Given the description of an element on the screen output the (x, y) to click on. 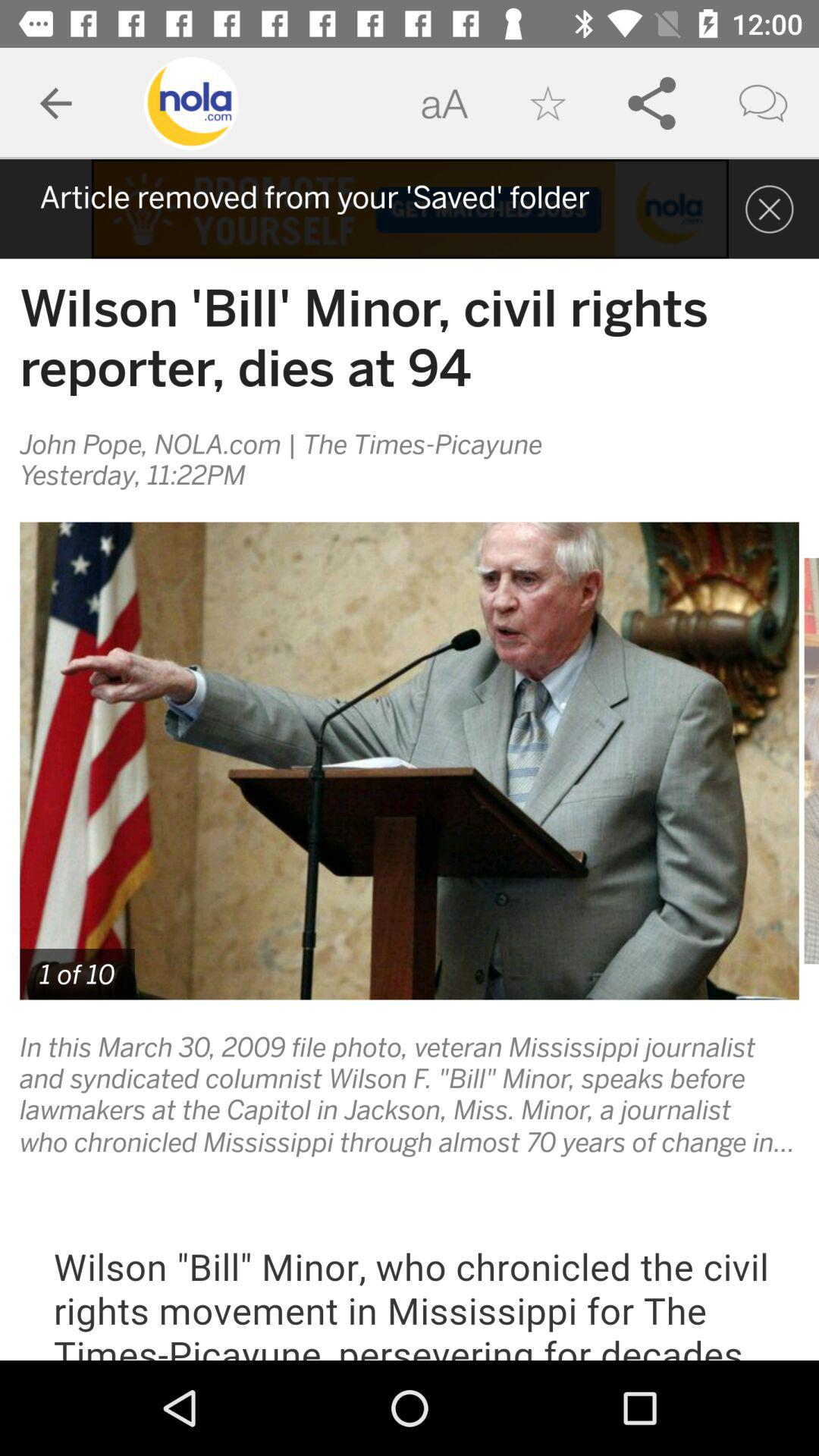
alert saying article removed from saved (409, 208)
